Given the description of an element on the screen output the (x, y) to click on. 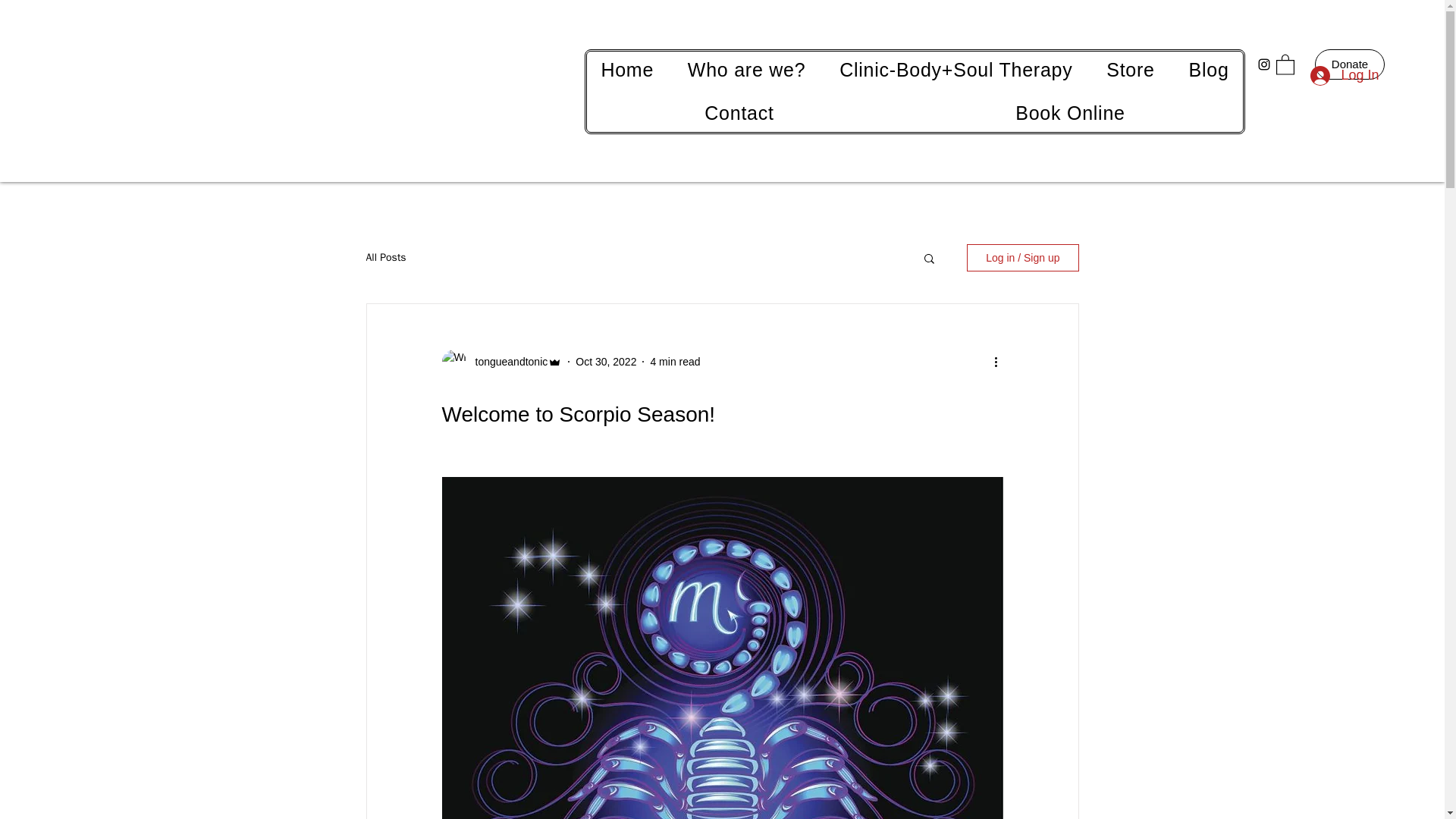
Blog (1208, 69)
4 min read (674, 360)
tongueandtonic (506, 360)
Log In (1344, 75)
Home (626, 69)
Who are we? (745, 69)
Contact (738, 113)
All Posts (385, 257)
Book Online (1070, 113)
Oct 30, 2022 (605, 360)
